Given the description of an element on the screen output the (x, y) to click on. 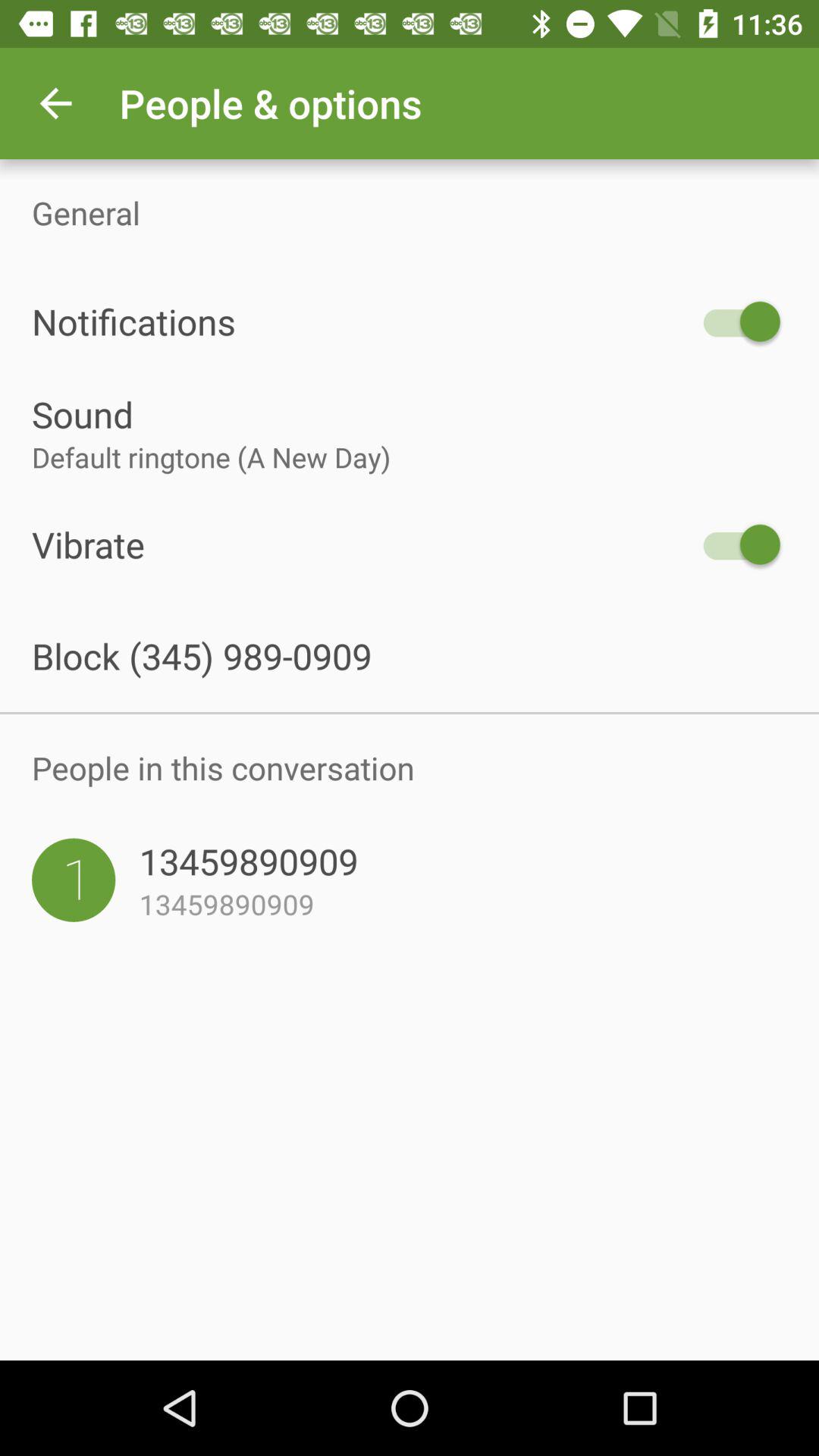
swipe to the default ringtone a (409, 457)
